Given the description of an element on the screen output the (x, y) to click on. 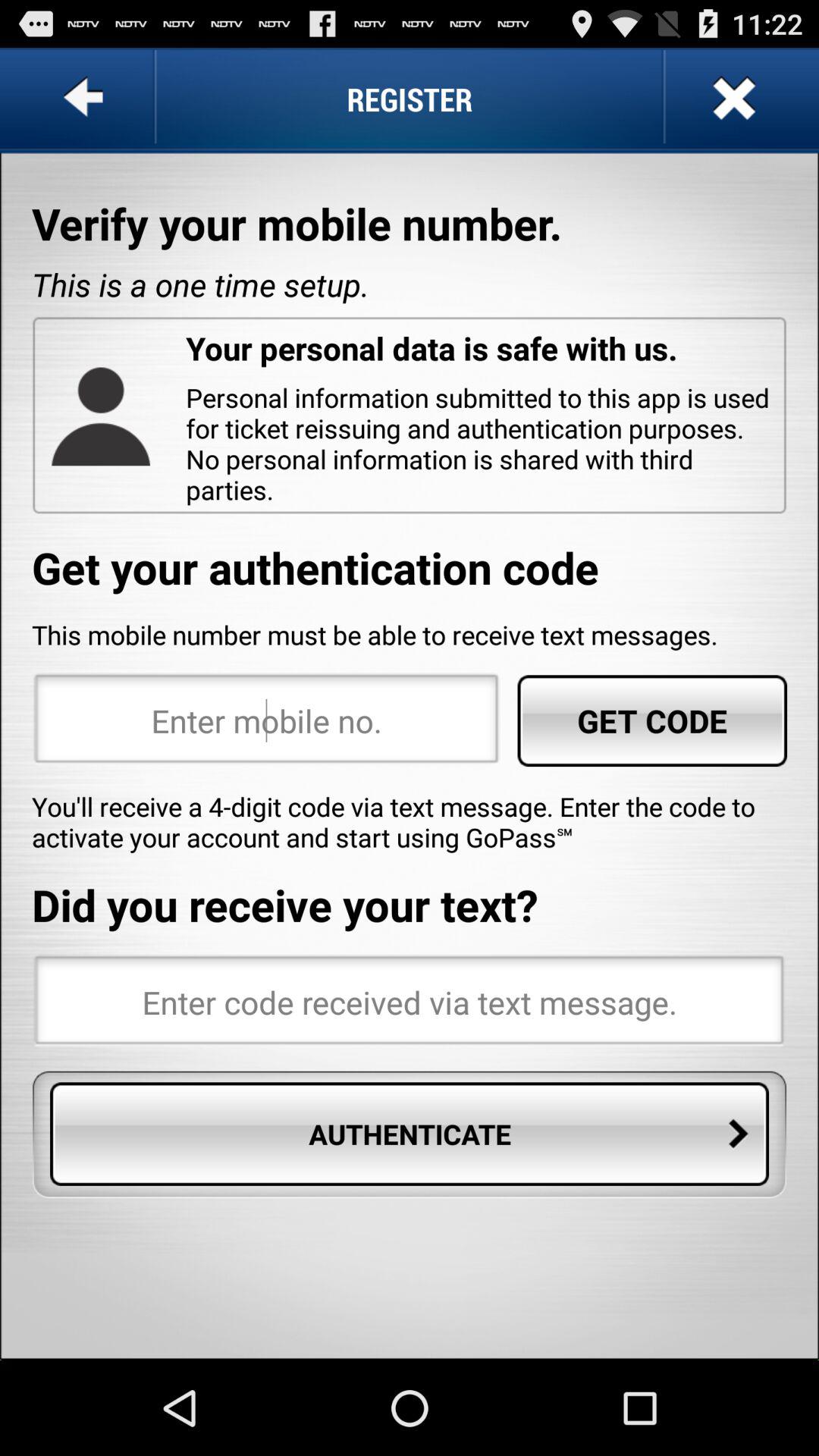
select app to the right of the register app (732, 99)
